Given the description of an element on the screen output the (x, y) to click on. 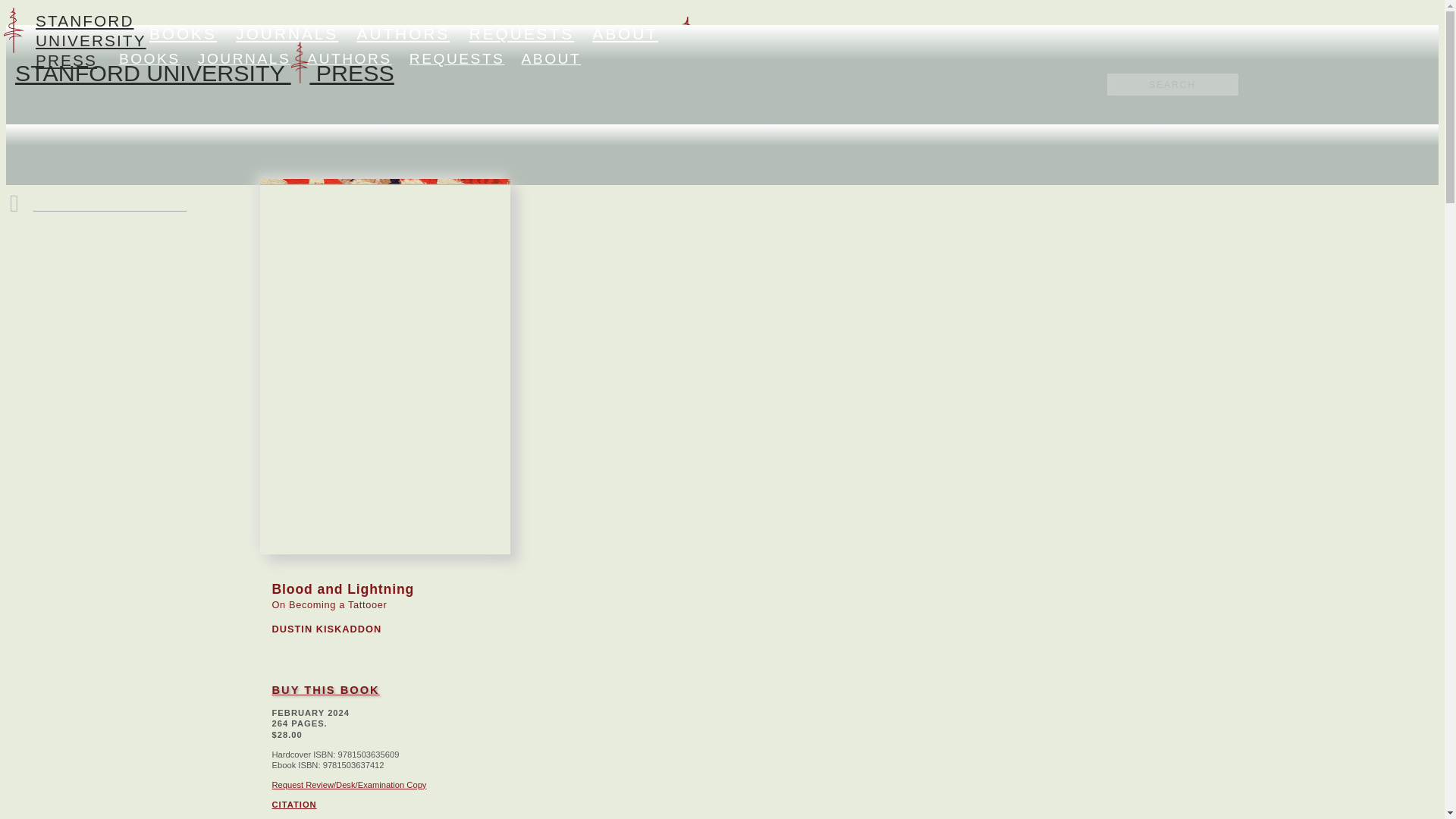
BOOKS (149, 58)
BUY THIS BOOK (324, 689)
REQUESTS (520, 33)
REQUESTS (457, 58)
CITATION (292, 804)
AUTHORS (402, 33)
ABOUT (625, 33)
BOOKS (182, 33)
STANFORD UNIVERSITY PRESS (506, 74)
ABOUT (550, 58)
STANFORD UNIVERSITY PRESS (204, 72)
JOURNALS (286, 33)
AUTHORS (349, 58)
JOURNALS (243, 58)
